Given the description of an element on the screen output the (x, y) to click on. 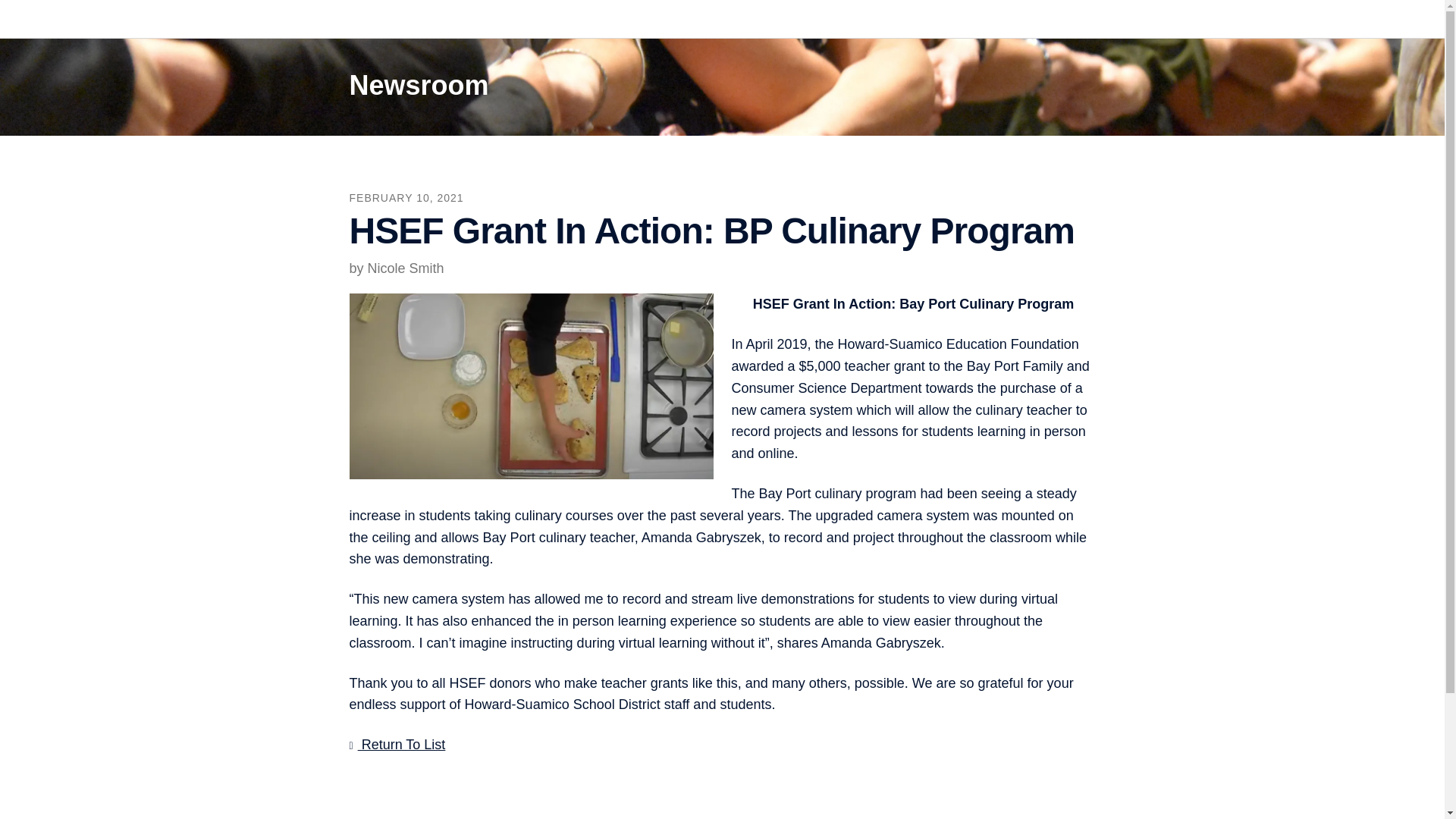
Return To List (397, 744)
